Given the description of an element on the screen output the (x, y) to click on. 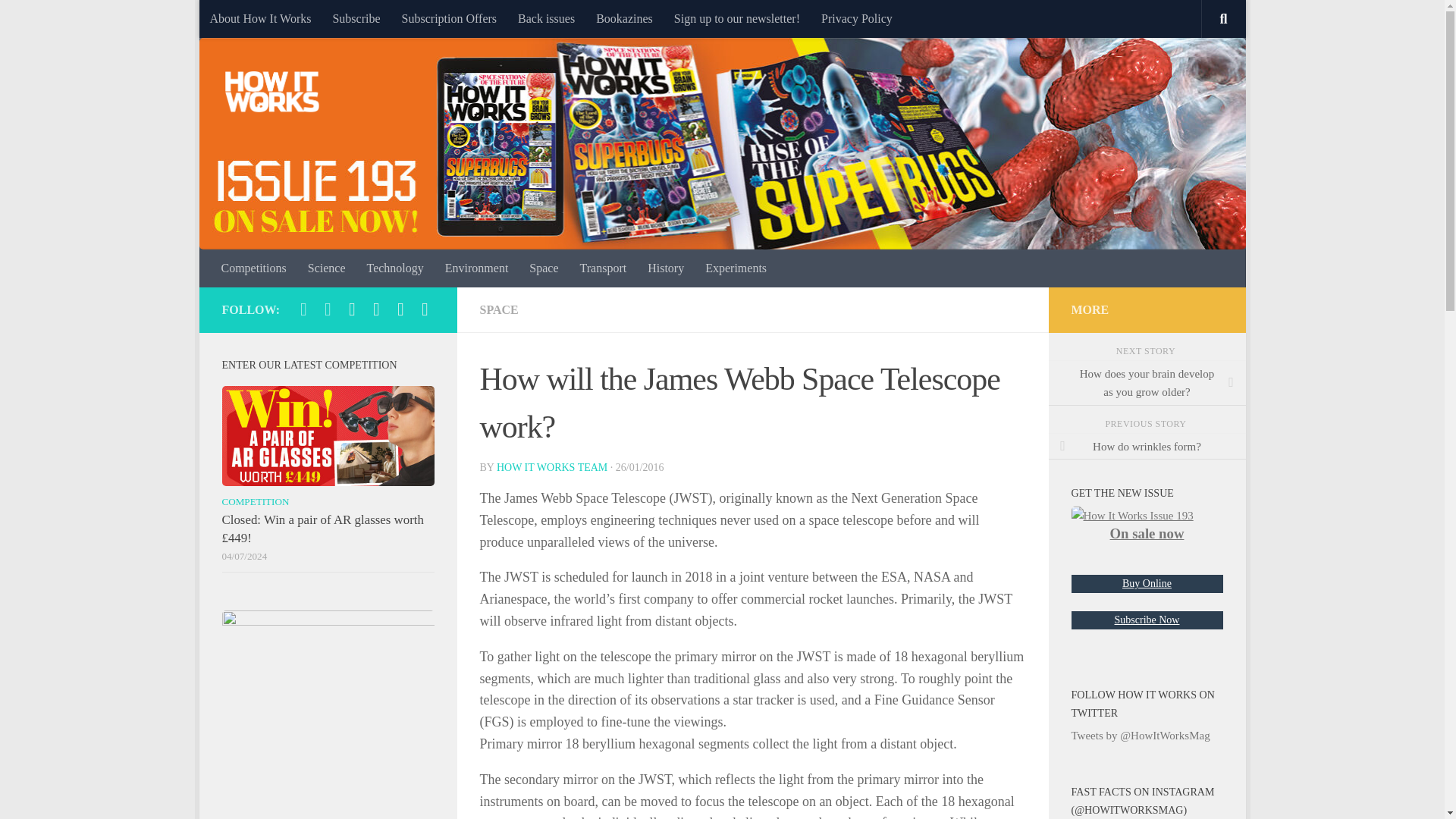
Follow us on Instagram (327, 309)
Transport (603, 268)
Technology (394, 268)
Follow us on Facebook (423, 309)
Sign up to our newsletter! (736, 18)
Science (326, 268)
Space (543, 268)
Experiments (735, 268)
Get digital edition on the App Store (375, 309)
Posts by How It Works Team (551, 467)
